Given the description of an element on the screen output the (x, y) to click on. 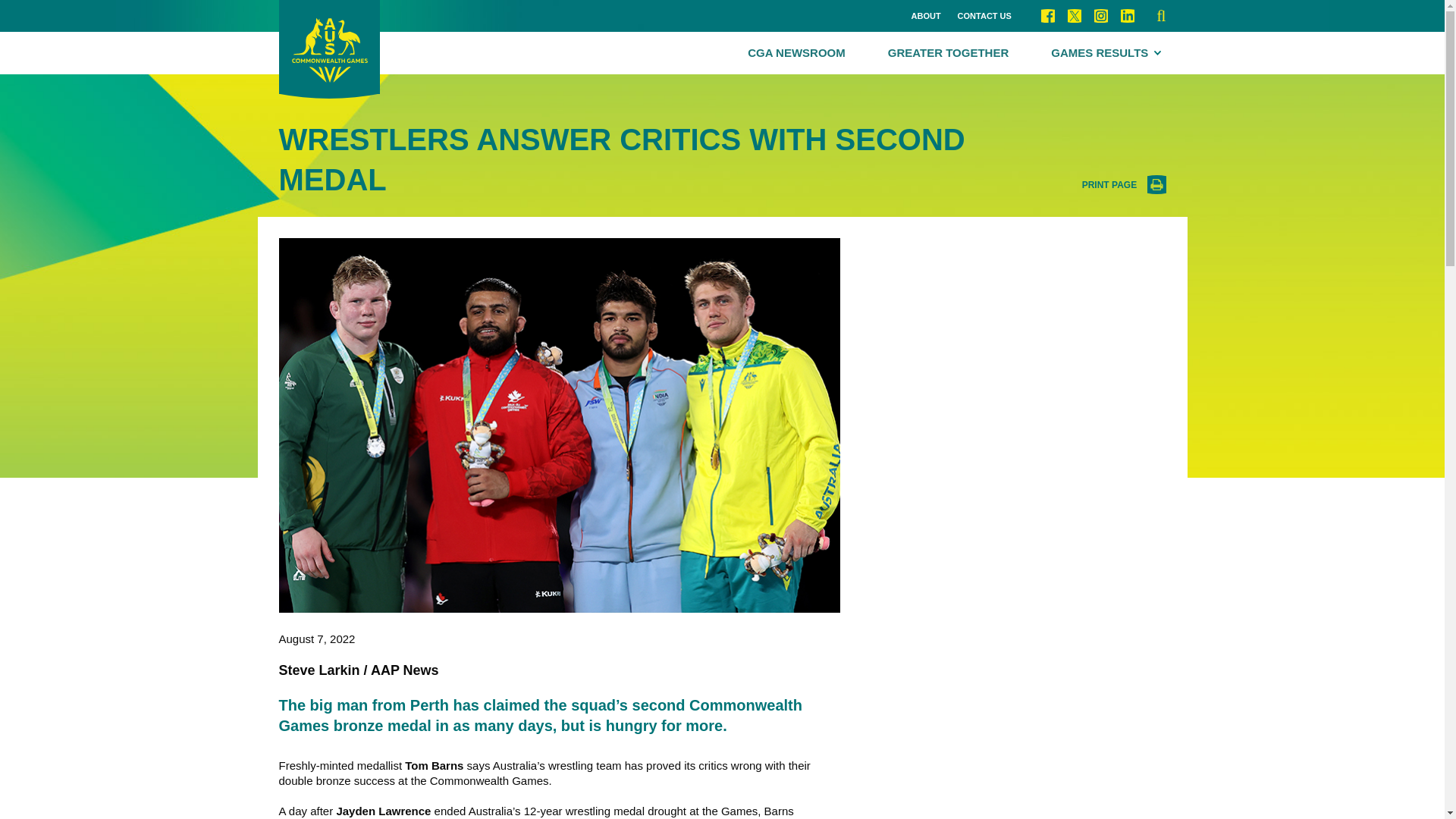
CONTACT US (984, 16)
ABOUT (925, 16)
GAMES RESULTS (1105, 52)
GREATER TOGETHER (948, 52)
CGA NEWSROOM (796, 52)
PRINT PAGE (1123, 185)
Commonwealth Games Australia (329, 49)
